Given the description of an element on the screen output the (x, y) to click on. 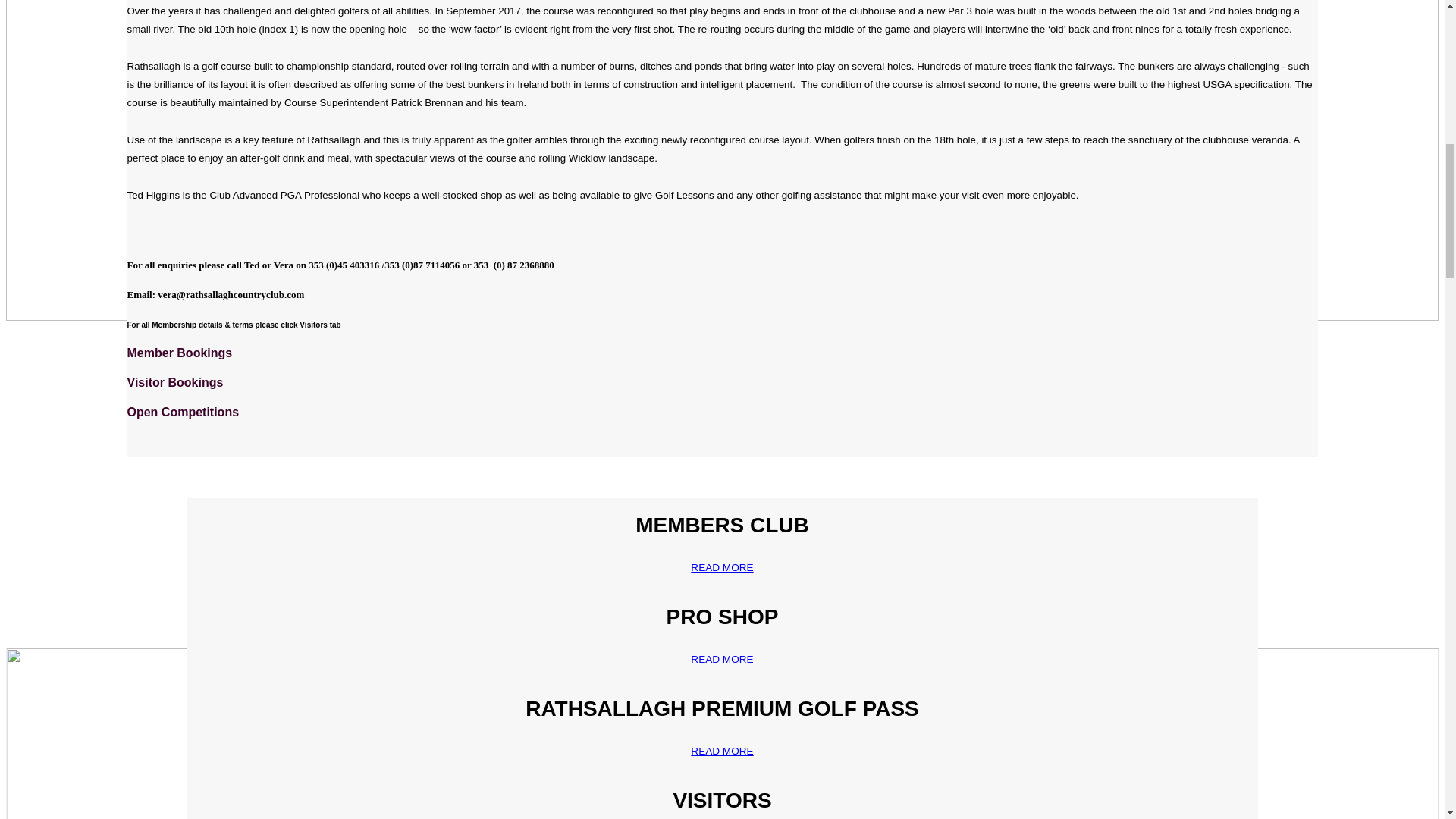
READ MORE (722, 659)
Visitor Bookings  (177, 382)
Member Bookings  (181, 352)
READ MORE (722, 567)
Open Competitions  (185, 411)
READ MORE (722, 751)
